Given the description of an element on the screen output the (x, y) to click on. 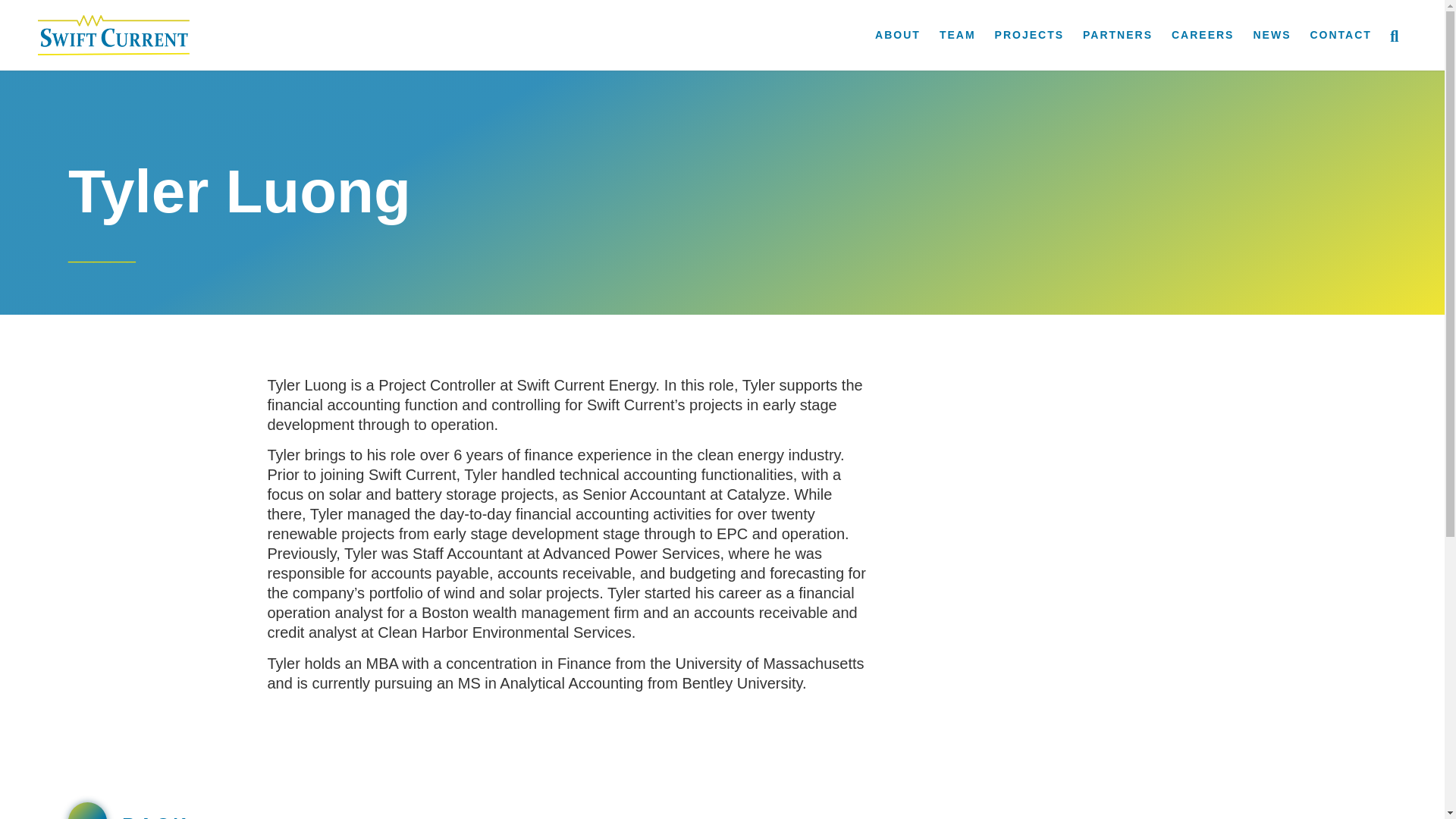
PROJECTS (1029, 34)
ABOUT (897, 34)
TEAM (957, 34)
PARTNERS (1118, 34)
CONTACT (1339, 34)
NEWS (1271, 34)
CAREERS (1202, 34)
